Given the description of an element on the screen output the (x, y) to click on. 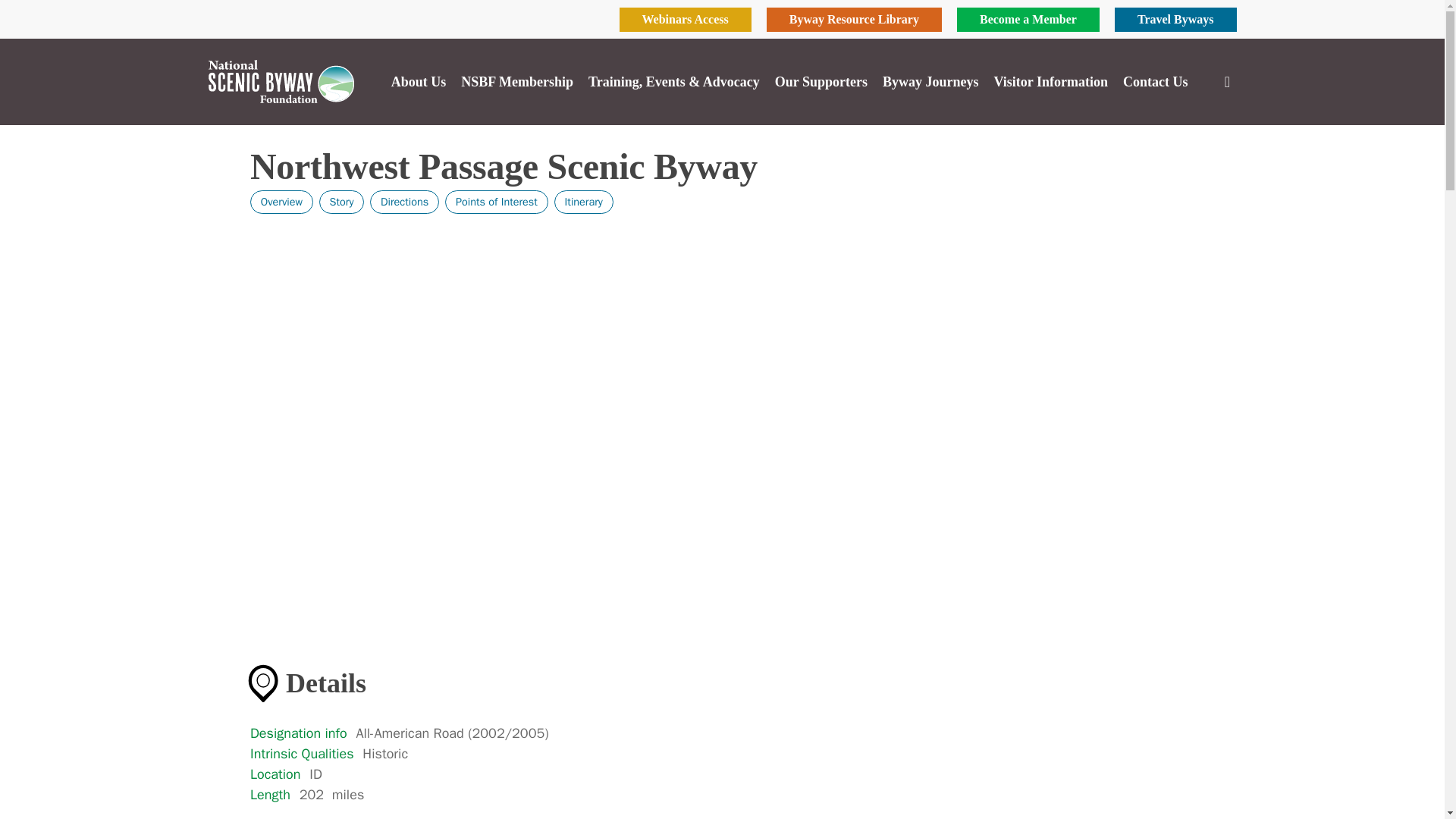
About Us (496, 201)
Webinars Access (418, 81)
Byway Resource Library (684, 19)
NSBF Membership (281, 201)
Visitor Information (854, 19)
Contact Us (404, 201)
Become a Member (517, 81)
